Given the description of an element on the screen output the (x, y) to click on. 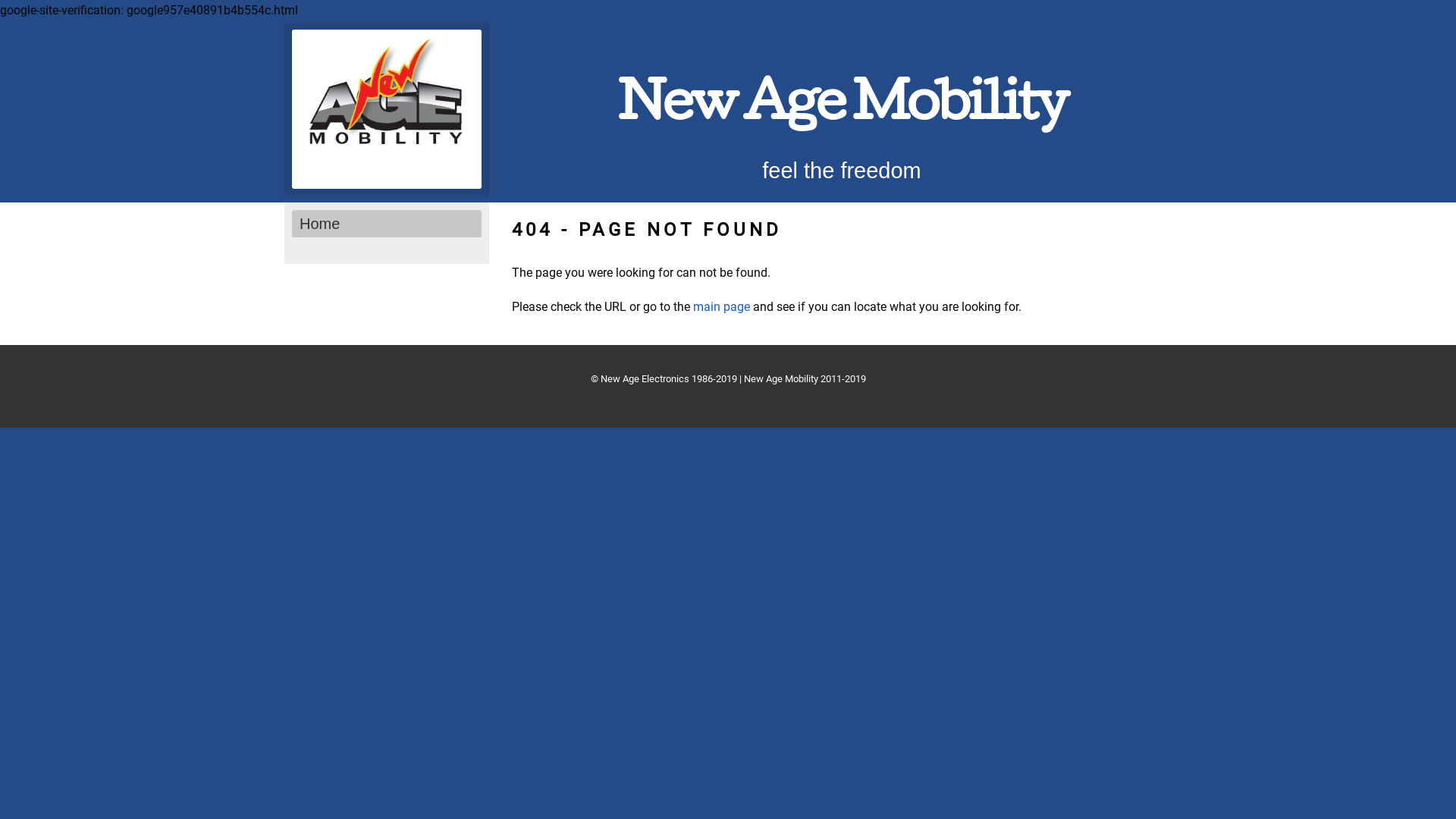
Home Element type: text (386, 223)
New Age Mobility Element type: text (841, 108)
main page Element type: text (721, 306)
